Given the description of an element on the screen output the (x, y) to click on. 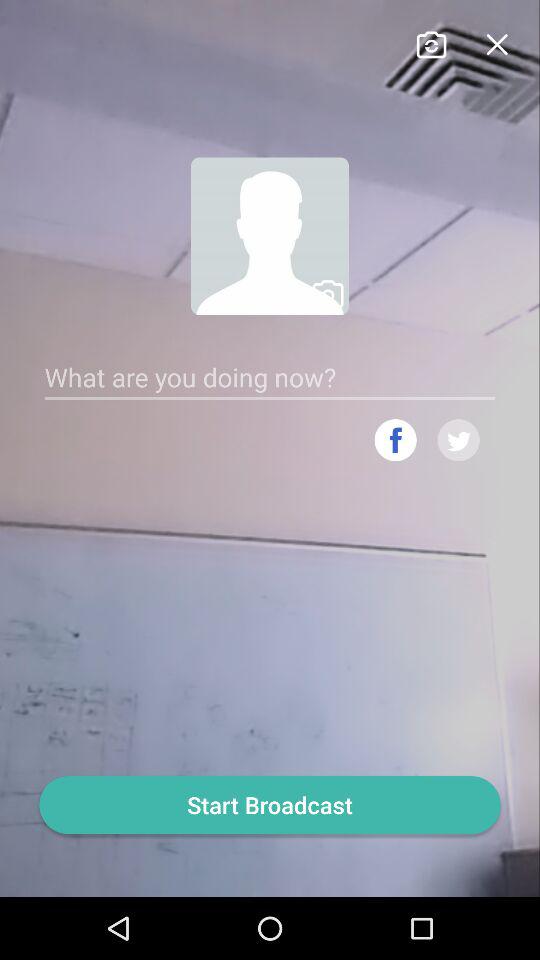
close tab (496, 42)
